Given the description of an element on the screen output the (x, y) to click on. 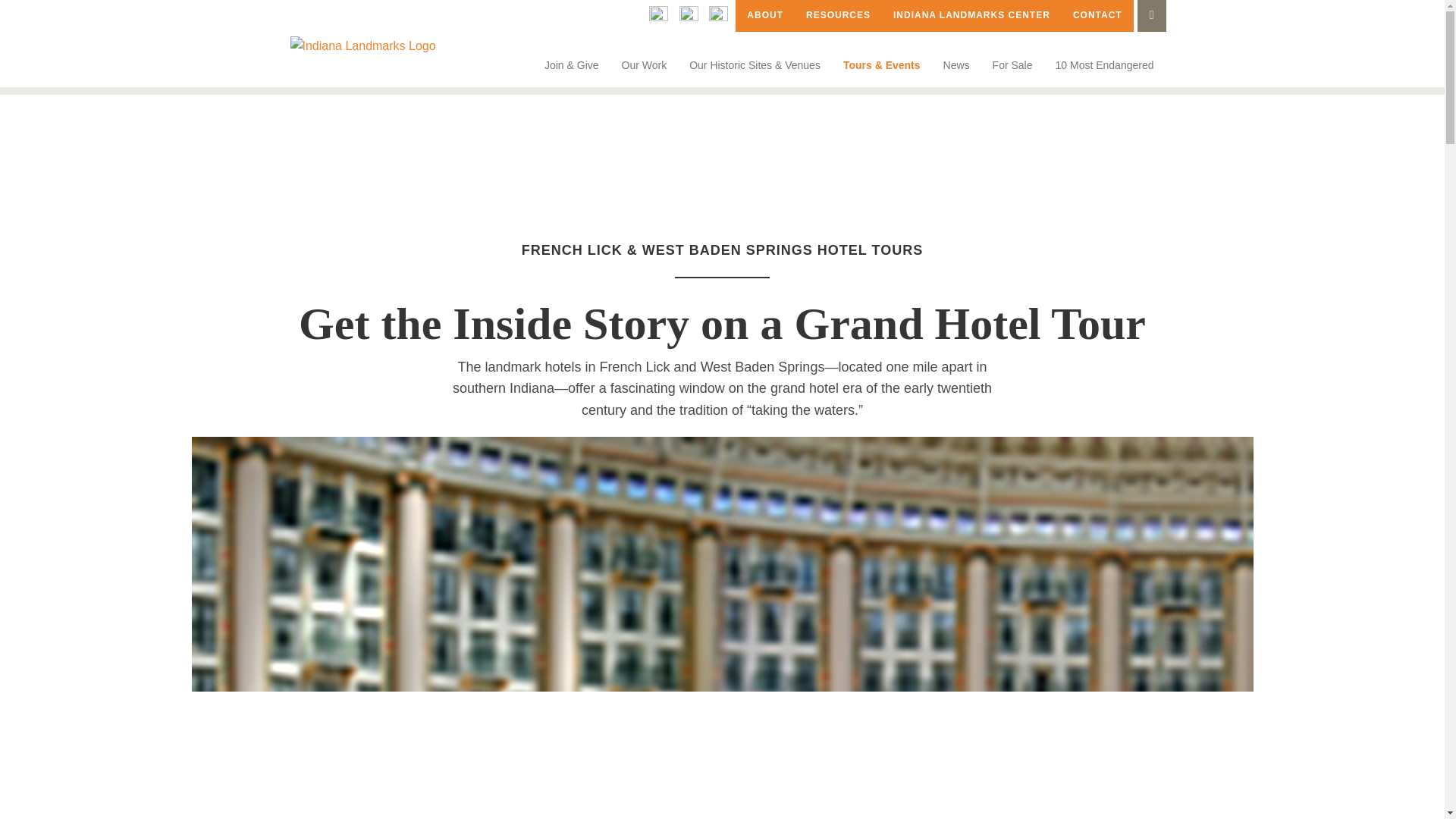
Our Work (644, 65)
ABOUT (764, 15)
INDIANA LANDMARKS CENTER (971, 15)
landmarks-logo (362, 46)
RESOURCES (838, 15)
CONTACT (1097, 15)
